Given the description of an element on the screen output the (x, y) to click on. 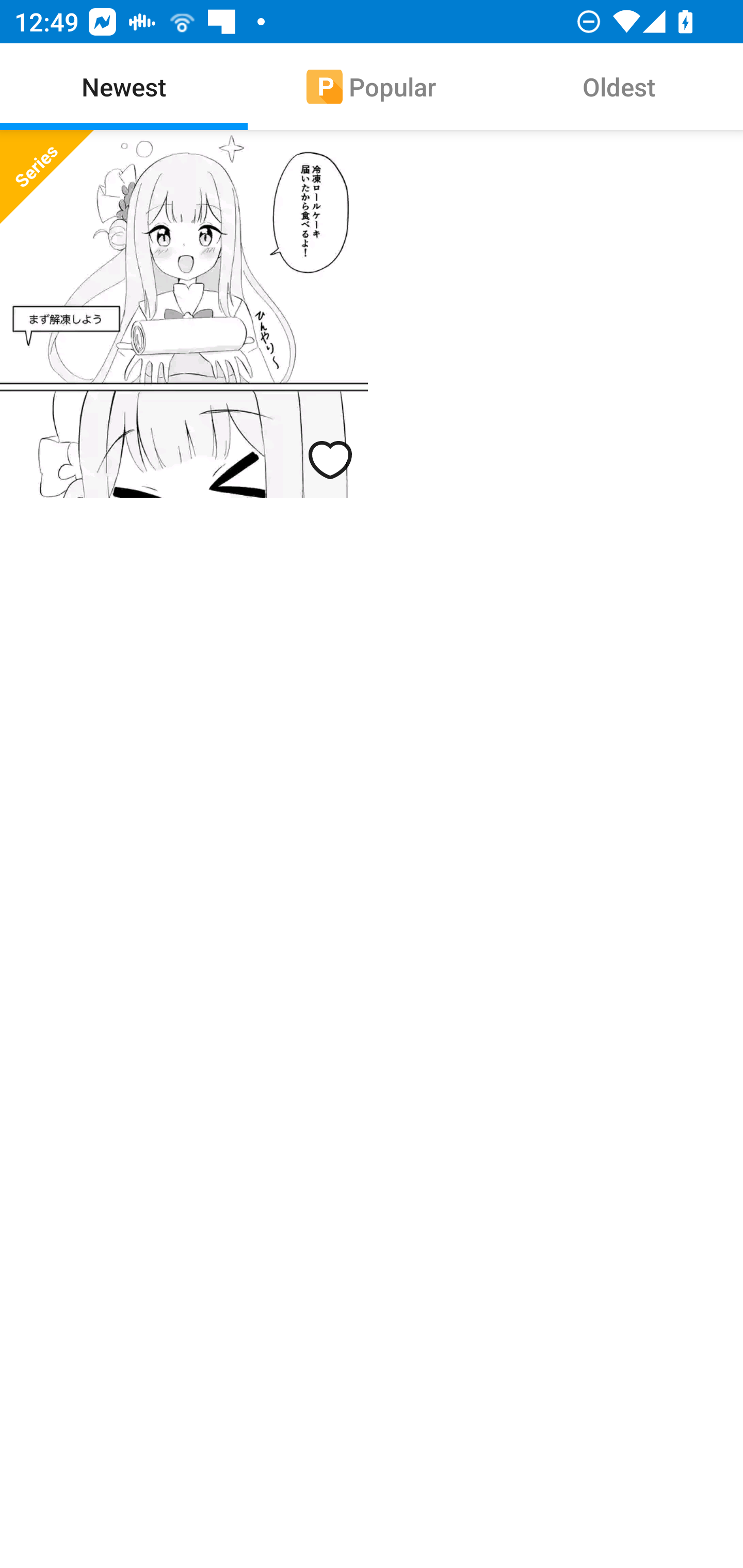
[P] Popular (371, 86)
Oldest (619, 86)
Series (183, 313)
